Given the description of an element on the screen output the (x, y) to click on. 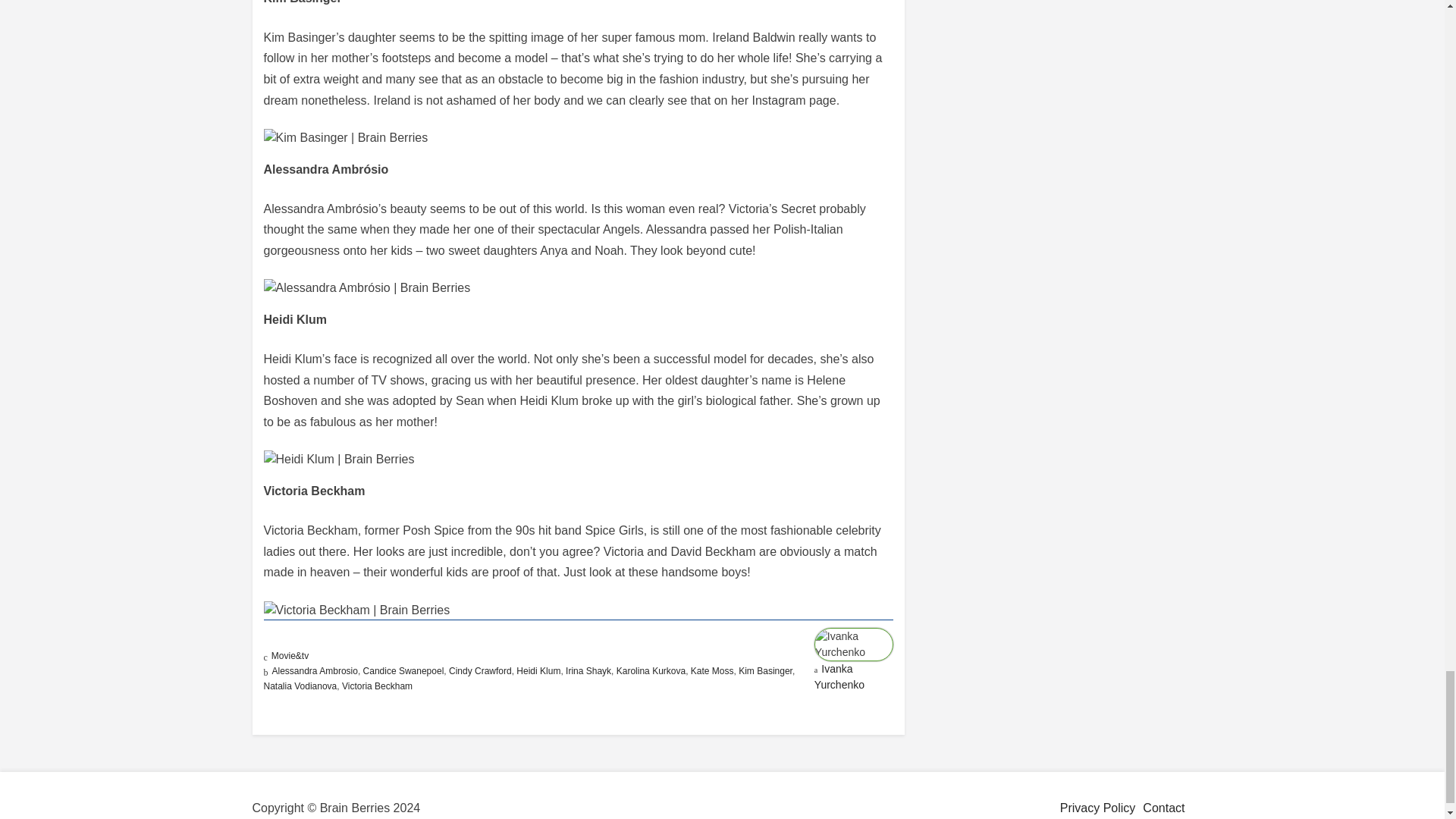
Cindy Crawford (480, 670)
Alessandra Ambrosio (313, 670)
Candice Swanepoel (403, 670)
Heidi Klum (538, 670)
